Given the description of an element on the screen output the (x, y) to click on. 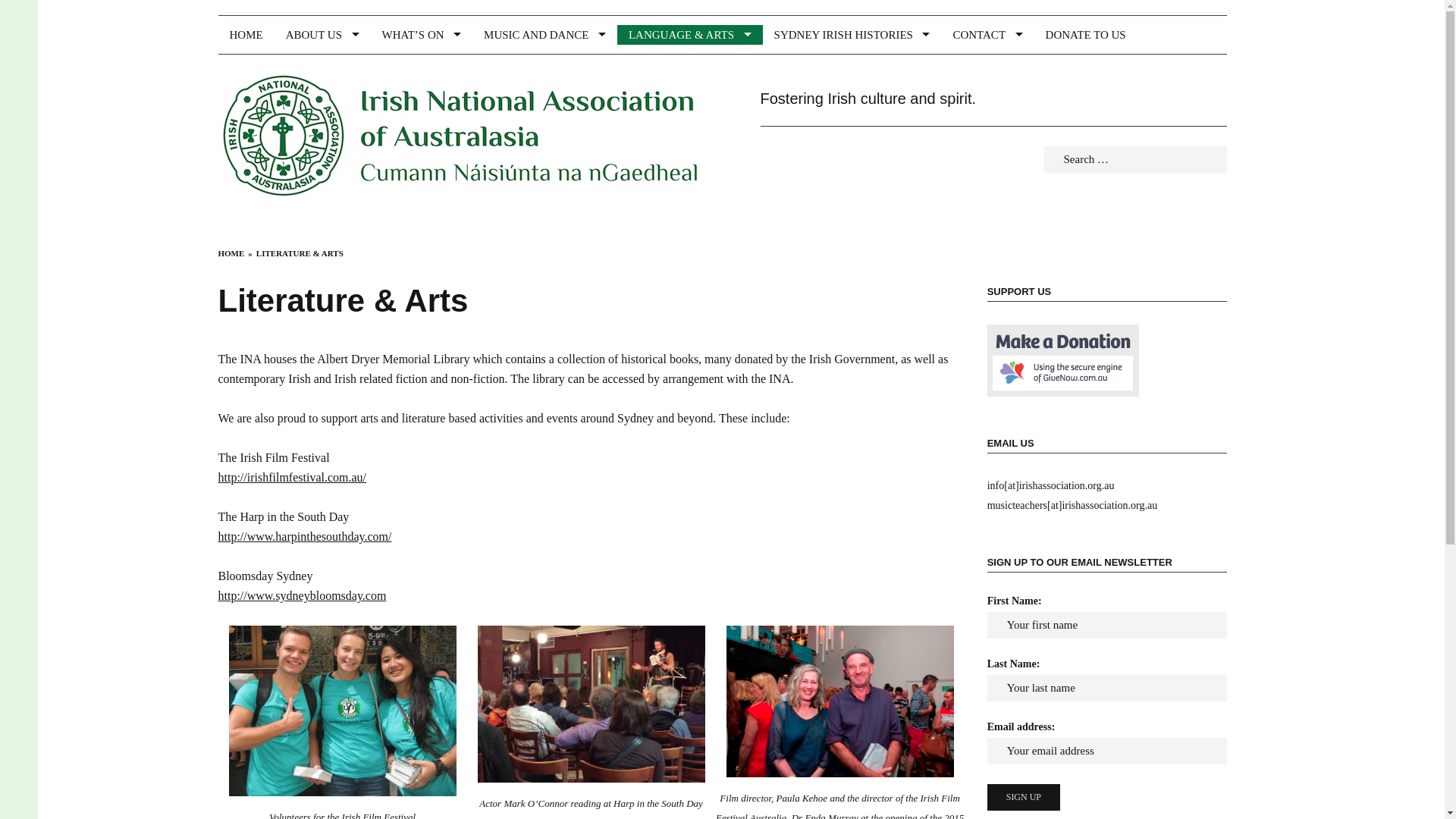
http://irishfilmfestival.com.au/ Element type: text (292, 476)
Search Element type: text (36, 13)
CONTACT Element type: text (987, 34)
musicteachers[at]irishassociation.org.au Element type: text (1072, 505)
HOME Element type: text (231, 252)
Skip to content Element type: text (218, 0)
info[at]irishassociation.org.au Element type: text (1050, 485)
SYDNEY IRISH HISTORIES Element type: text (851, 34)
LANGUAGE & ARTS Element type: text (689, 34)
MUSIC AND DANCE Element type: text (544, 34)
DONATE TO US Element type: text (1085, 34)
http://www.sydneybloomsday.com Element type: text (302, 595)
ABOUT US Element type: text (322, 34)
Sign up Element type: text (1023, 797)
give now Element type: hover (1063, 359)
HOME Element type: text (246, 34)
LITERATURE & ARTS Element type: text (299, 252)
http://www.harpinthesouthday.com/ Element type: text (305, 536)
